Given the description of an element on the screen output the (x, y) to click on. 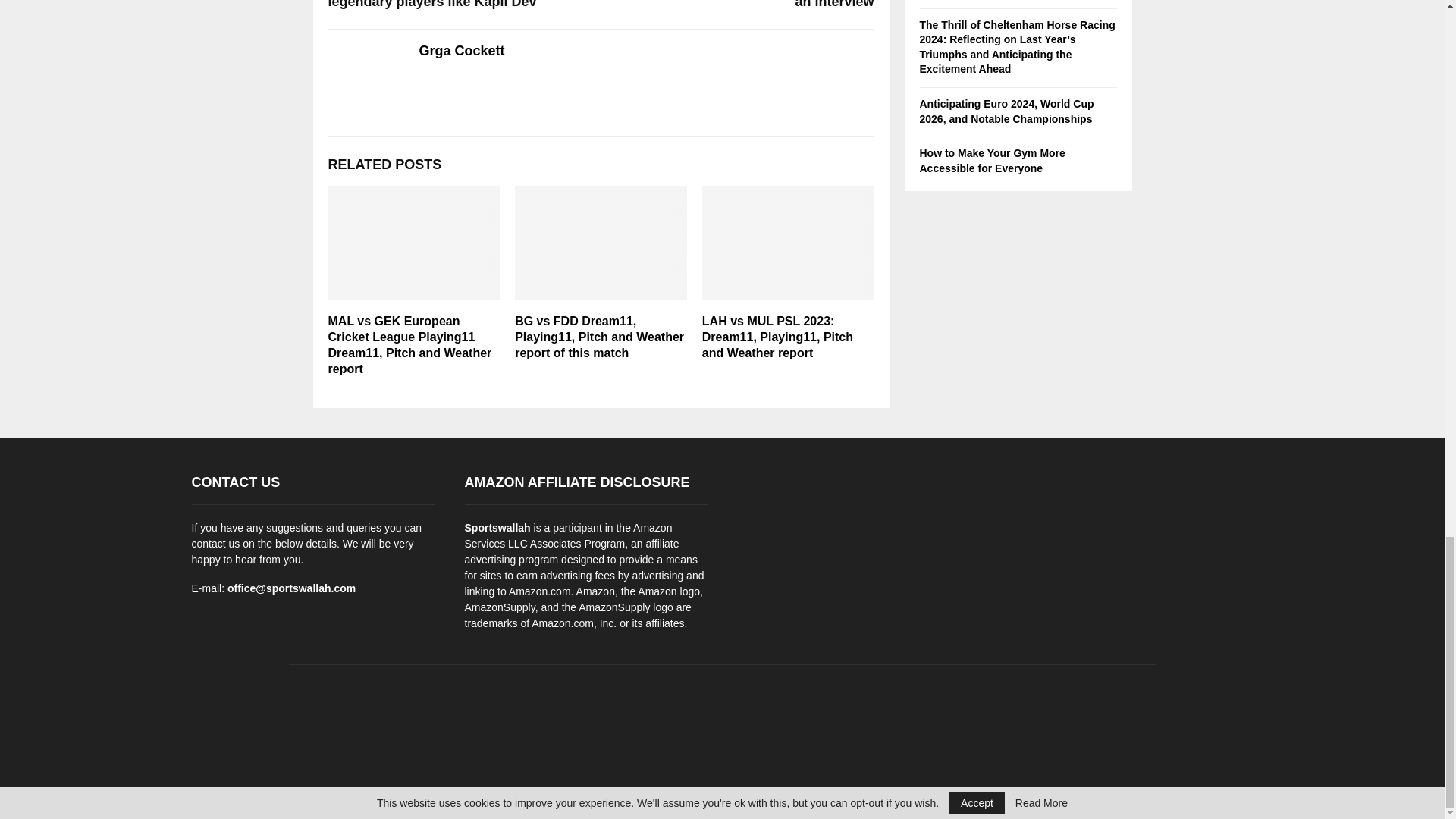
Posts by Grga Cockett (461, 50)
Grga Cockett (461, 50)
